Given the description of an element on the screen output the (x, y) to click on. 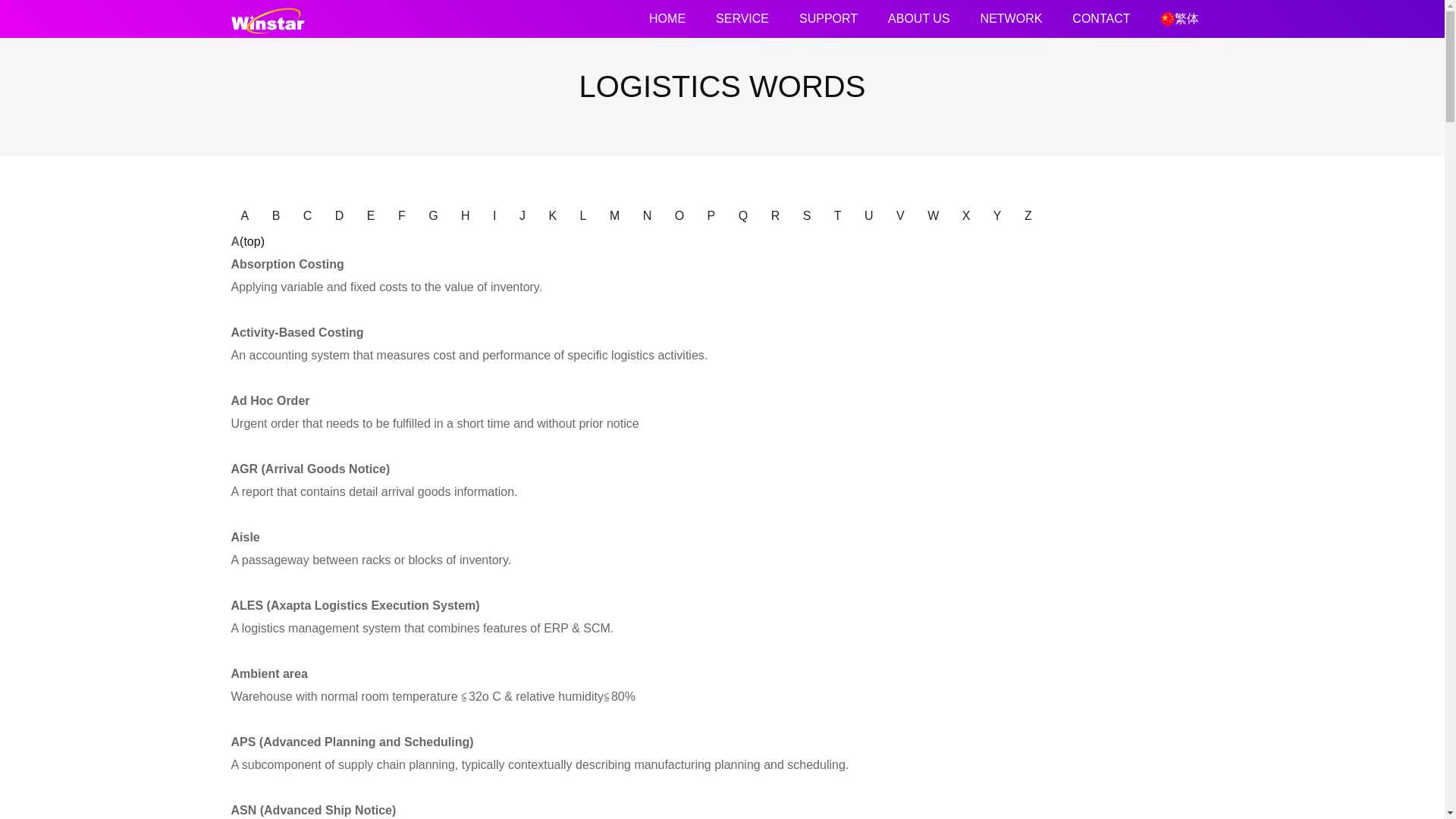
U (868, 215)
X (965, 215)
SERVICE (742, 19)
HOME (666, 19)
SERVICE (742, 19)
D (338, 215)
W (933, 215)
SUPPORT (828, 19)
H (465, 215)
M (613, 215)
NETWORK (1011, 19)
F (401, 215)
ABOUT US (918, 19)
B (275, 215)
R (775, 215)
